Given the description of an element on the screen output the (x, y) to click on. 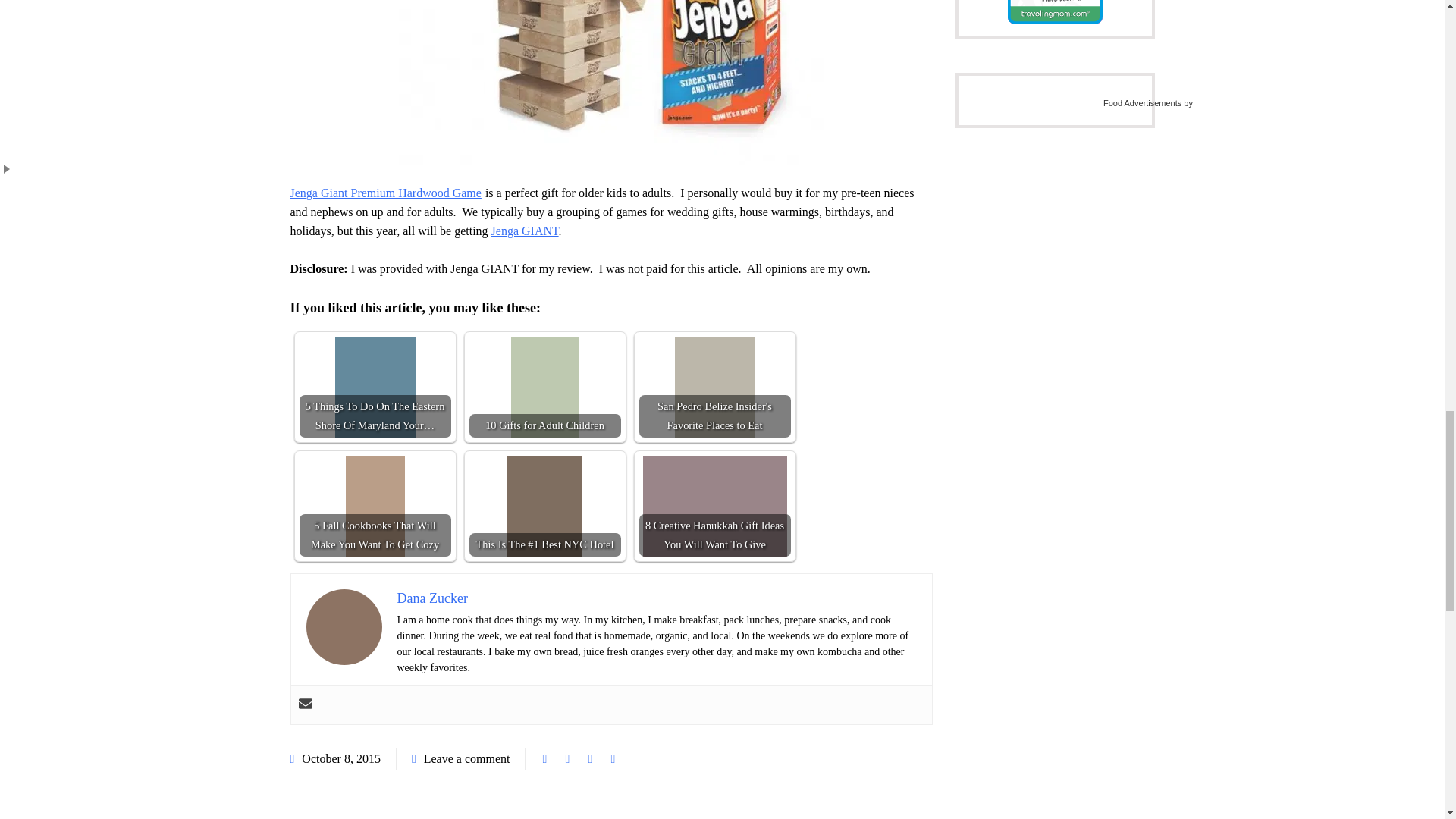
Share with Google Plus (589, 758)
Tweet this (567, 758)
Post comments (460, 758)
8 Creative Hanukkah Gift Ideas You Will Want To Give (715, 505)
Share this (544, 758)
Pin this (612, 758)
